Given the description of an element on the screen output the (x, y) to click on. 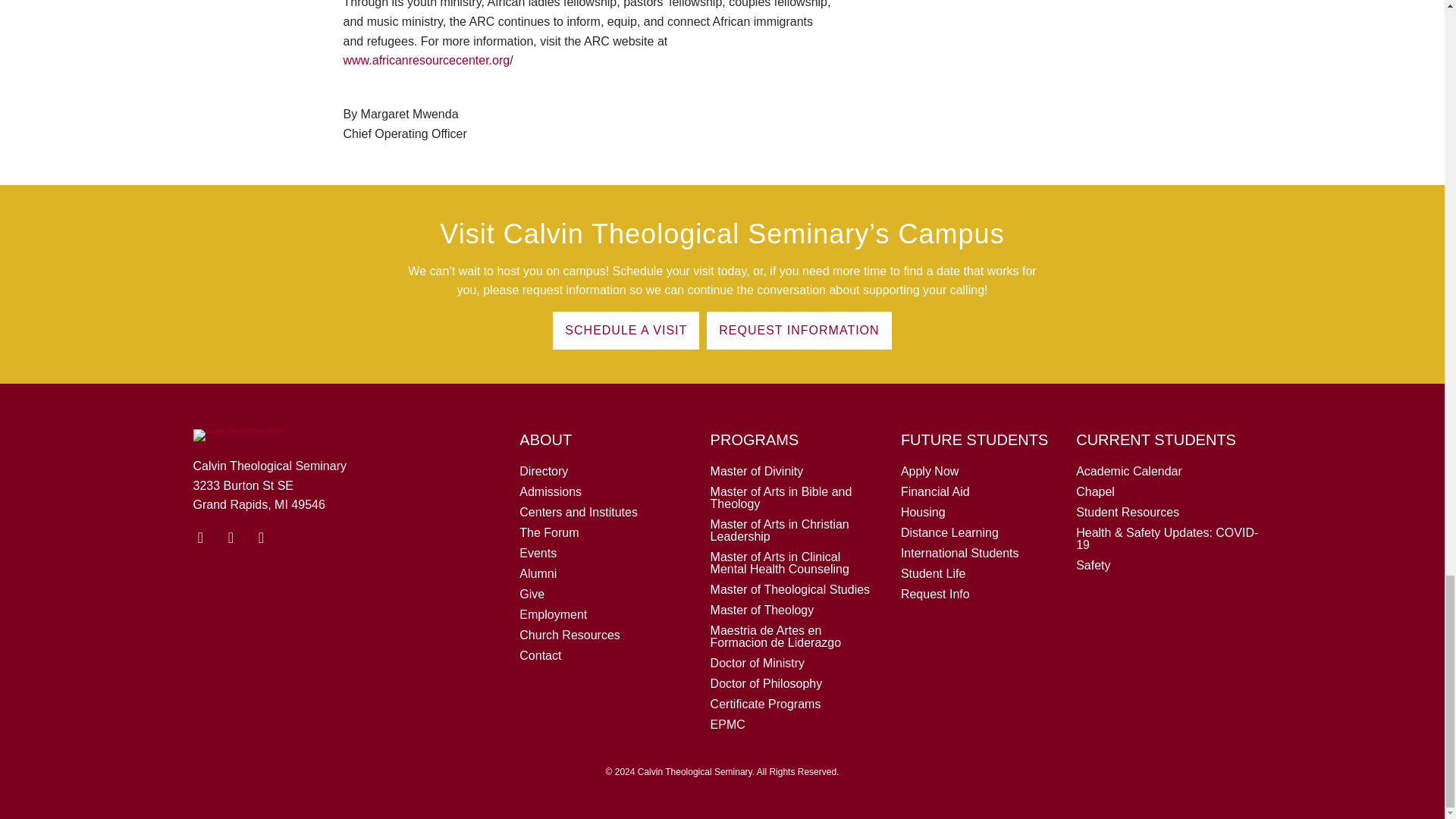
combo-leftseal (237, 435)
Facebook (230, 537)
YouTube (200, 537)
Instagram (260, 537)
